Given the description of an element on the screen output the (x, y) to click on. 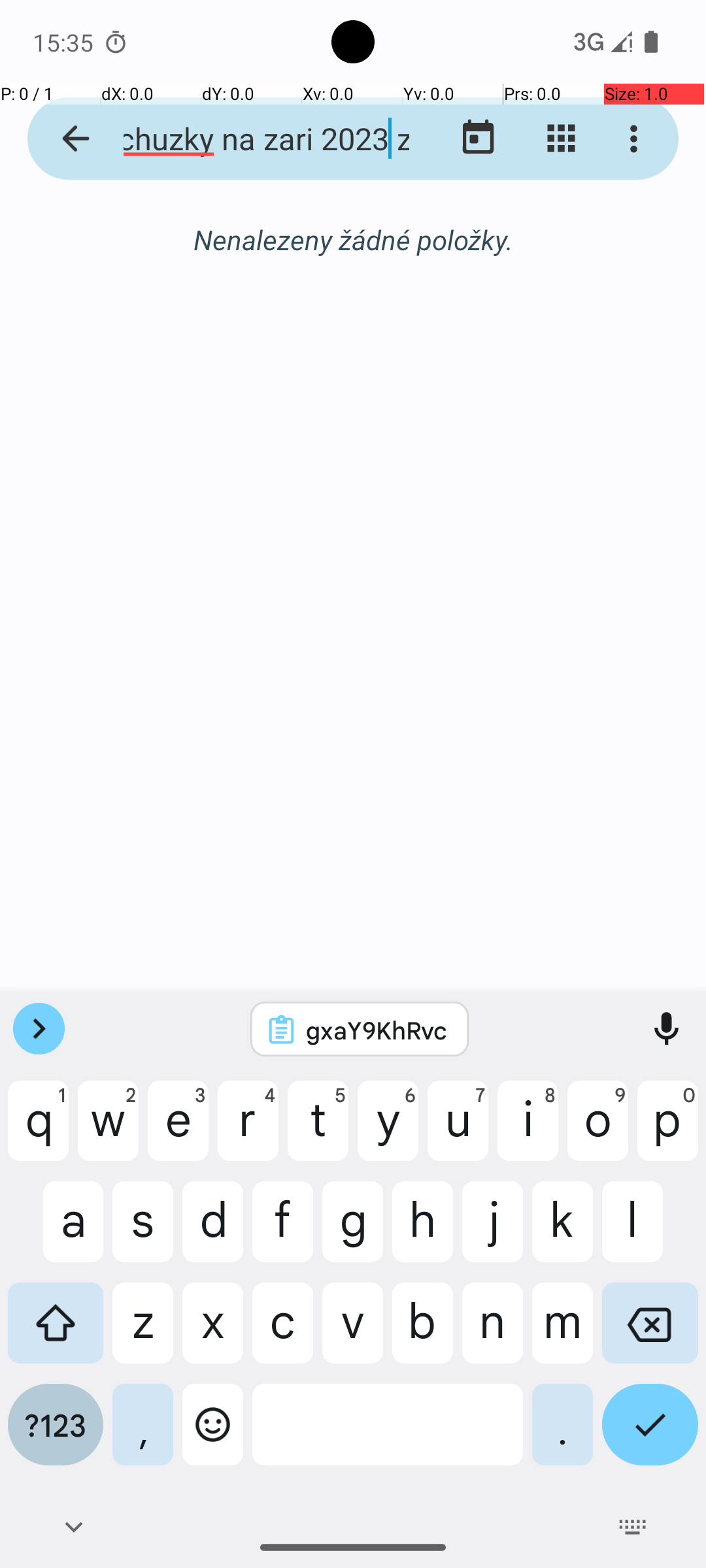
schuzky nschuzky naschuzky na zari 2023 zari 2023a zari Element type: android.widget.EditText (252, 138)
Nenalezeny žádné položky. Element type: android.widget.TextView (353, 239)
září Element type: android.widget.TextView (352, 239)
gxaY9KhRvc Element type: android.widget.TextView (376, 1029)
